Given the description of an element on the screen output the (x, y) to click on. 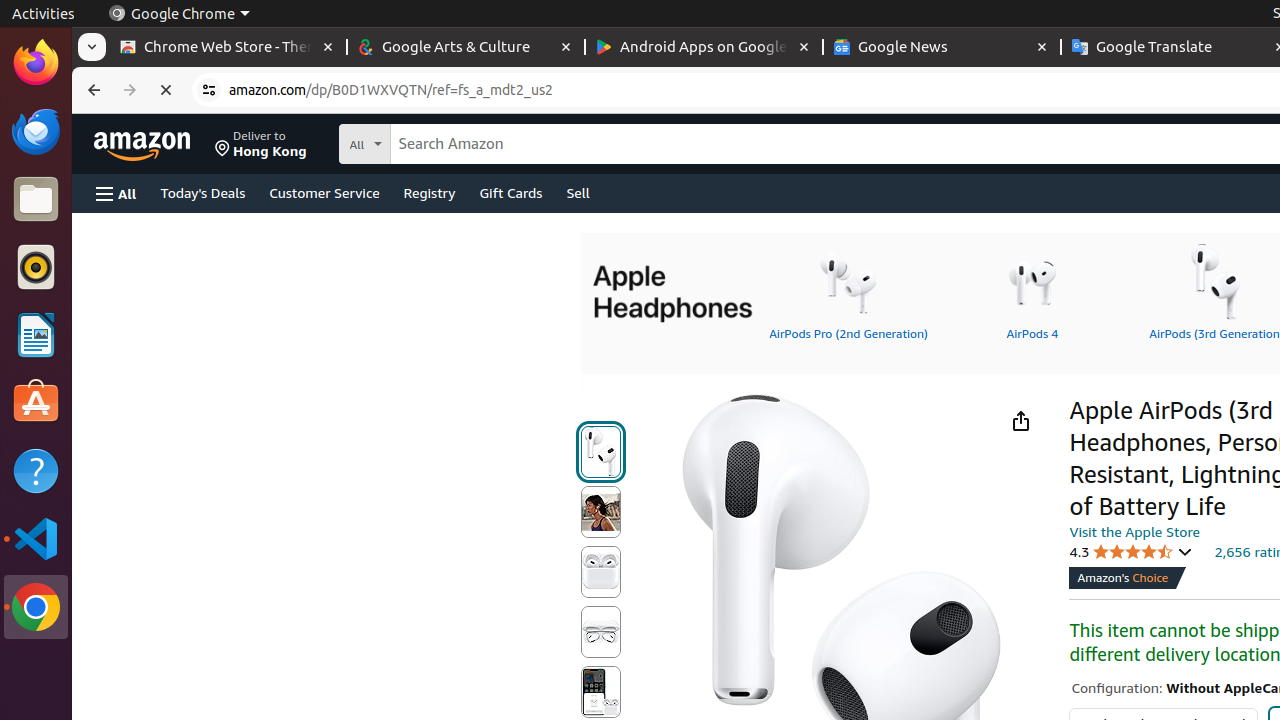
Help Element type: push-button (36, 470)
Ubuntu Software Element type: push-button (36, 402)
Open Menu Element type: push-button (116, 193)
AirPods Pro (2nd Generation) Element type: link (848, 291)
4.3 4.3 out of 5 stars Element type: push-button (1131, 551)
